Given the description of an element on the screen output the (x, y) to click on. 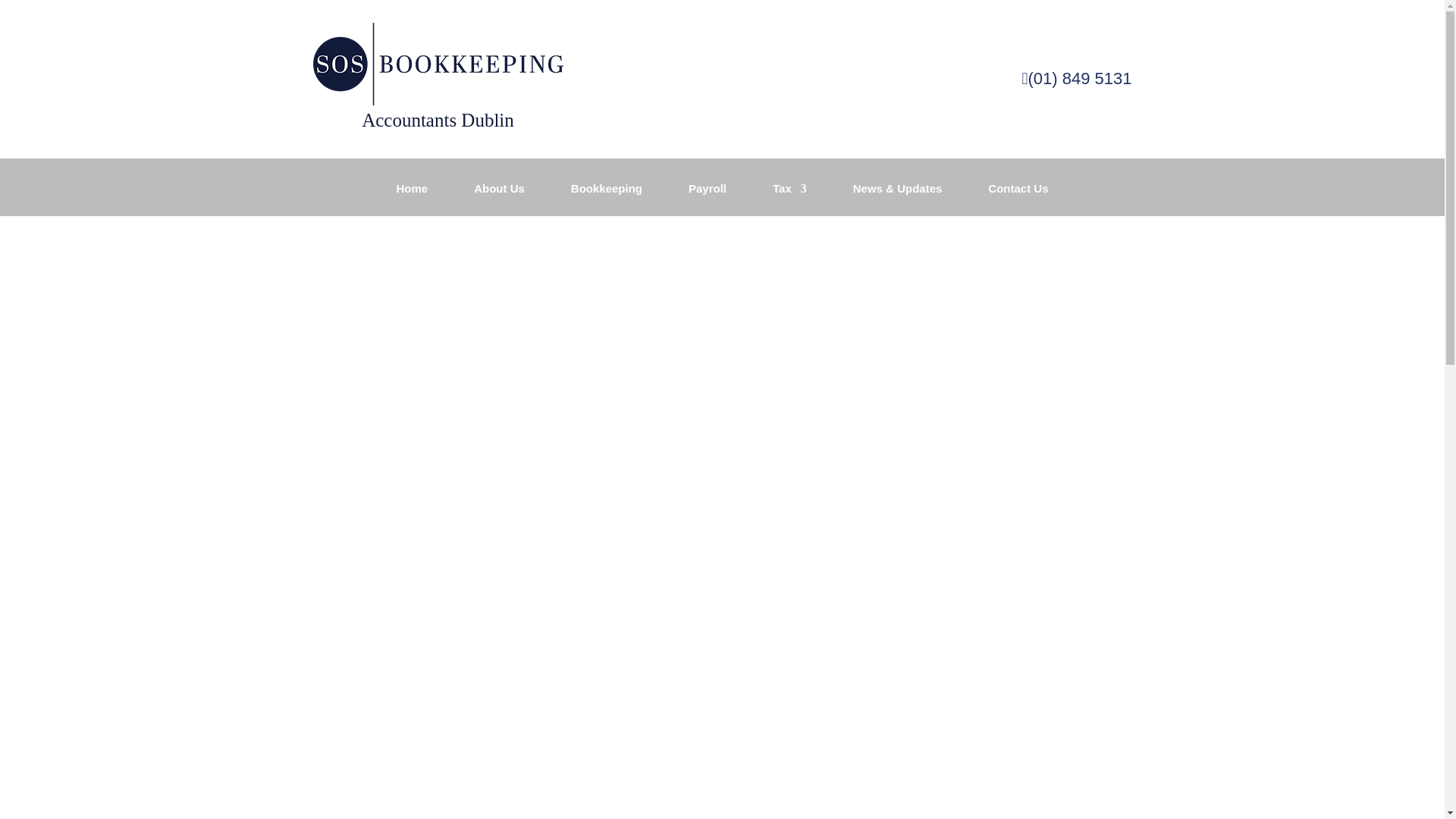
About Us (499, 199)
Home (412, 199)
Payroll (707, 199)
Tax (789, 199)
Contact Us (1018, 199)
Bookkeeping (606, 199)
